Given the description of an element on the screen output the (x, y) to click on. 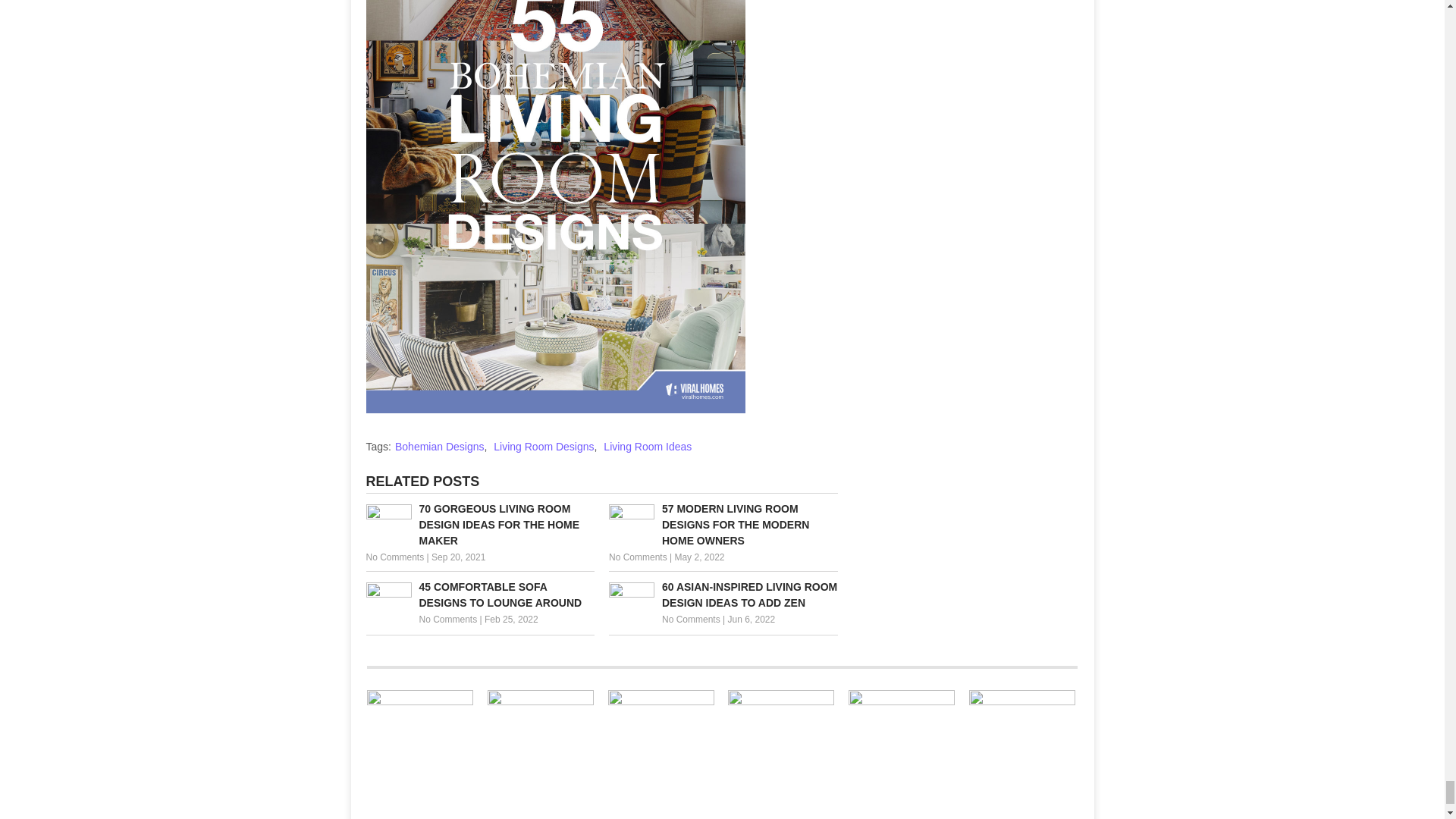
70 Gorgeous Living Room Design Ideas for the Home Maker (479, 524)
45 Comfortable Sofa Designs to Lounge Around (479, 594)
No Comments (448, 619)
No Comments (394, 557)
57 Modern Living Room Designs for the Modern Home Owners (723, 524)
Bohemian Designs (439, 446)
45 COMFORTABLE SOFA DESIGNS TO LOUNGE AROUND (479, 594)
60 Asian-Inspired Living Room Design Ideas to Add Zen (723, 594)
57 MODERN LIVING ROOM DESIGNS FOR THE MODERN HOME OWNERS (723, 524)
Living Room Designs (543, 446)
